Given the description of an element on the screen output the (x, y) to click on. 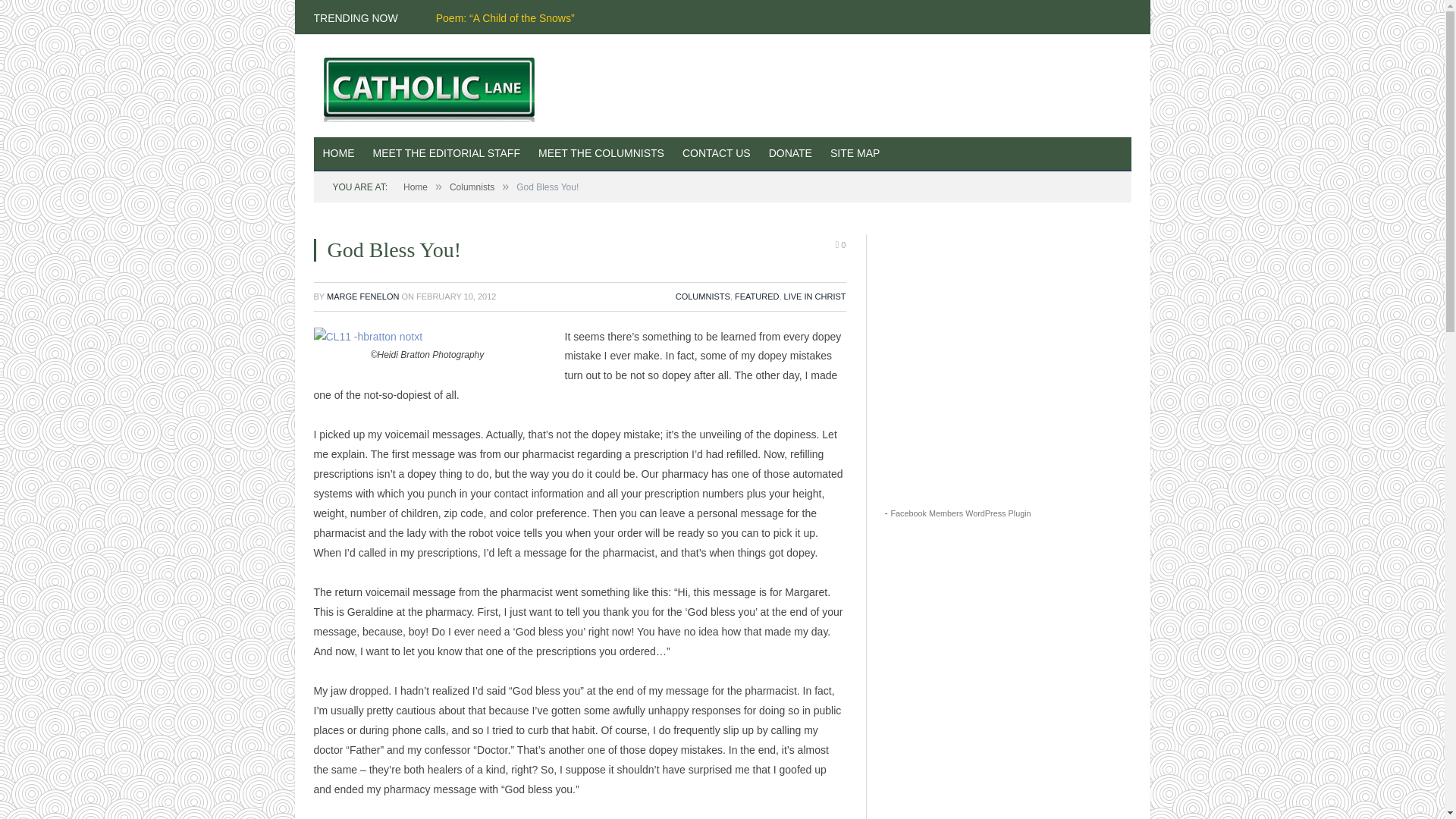
LIVE IN CHRIST (814, 296)
Posts by Marge Fenelon (362, 296)
Catholic Lane (435, 85)
MEET THE EDITORIAL STAFF (446, 154)
SITE MAP (854, 154)
MEET THE COLUMNISTS (600, 154)
Home (415, 186)
Columnists (472, 186)
COLUMNISTS (702, 296)
CONTACT US (716, 154)
